Given the description of an element on the screen output the (x, y) to click on. 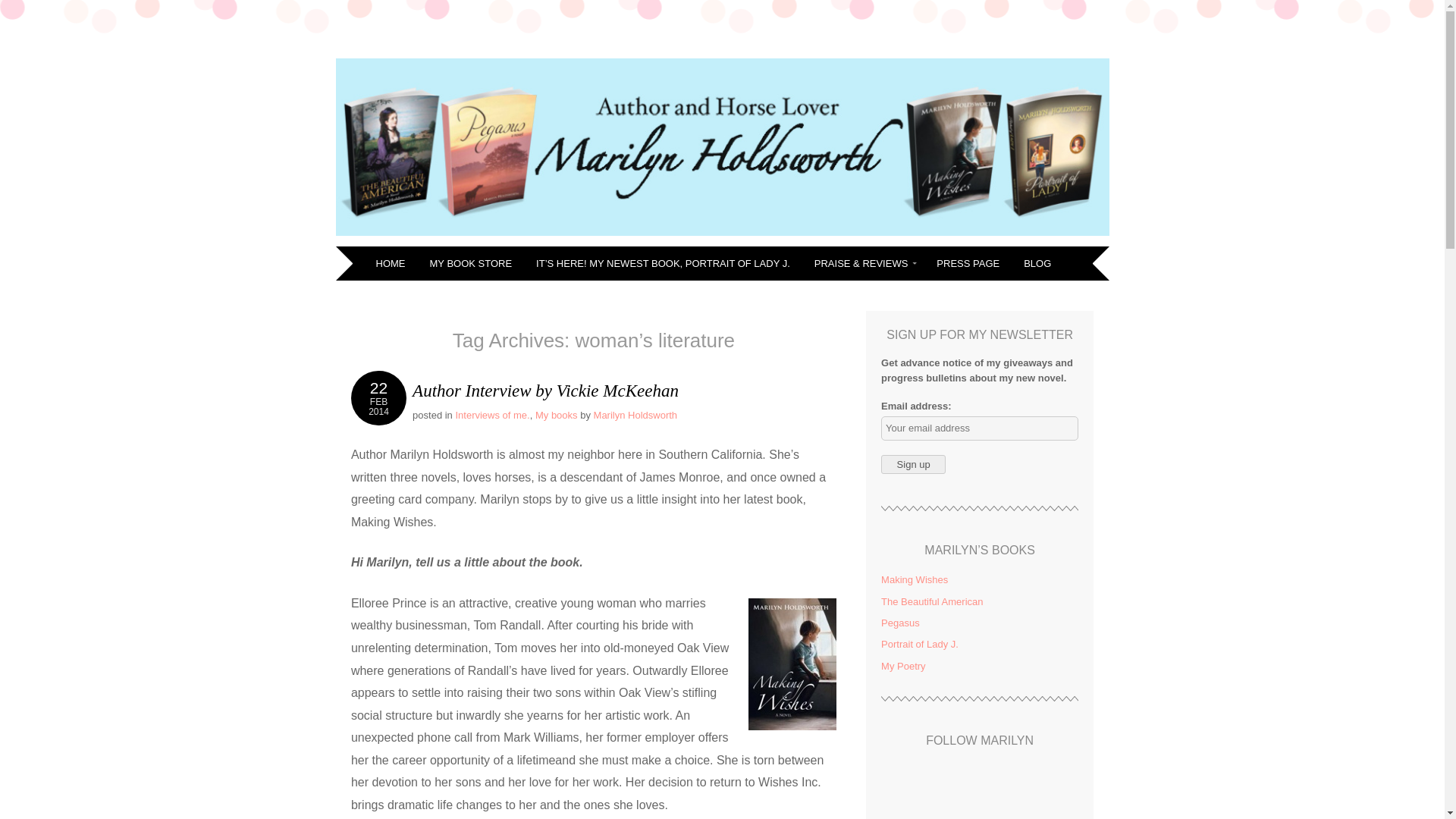
MARILYN HOLDSWORTH (550, 61)
Sign up (912, 464)
MY BOOK STORE (473, 263)
3:18 pm (377, 397)
Sign up (912, 464)
Marilyn Holdsworth (550, 61)
View all posts by Marilyn Holdsworth (636, 414)
PRESS PAGE (969, 263)
Making Wishes (913, 579)
Marilyn Holdsworth (636, 414)
